Given the description of an element on the screen output the (x, y) to click on. 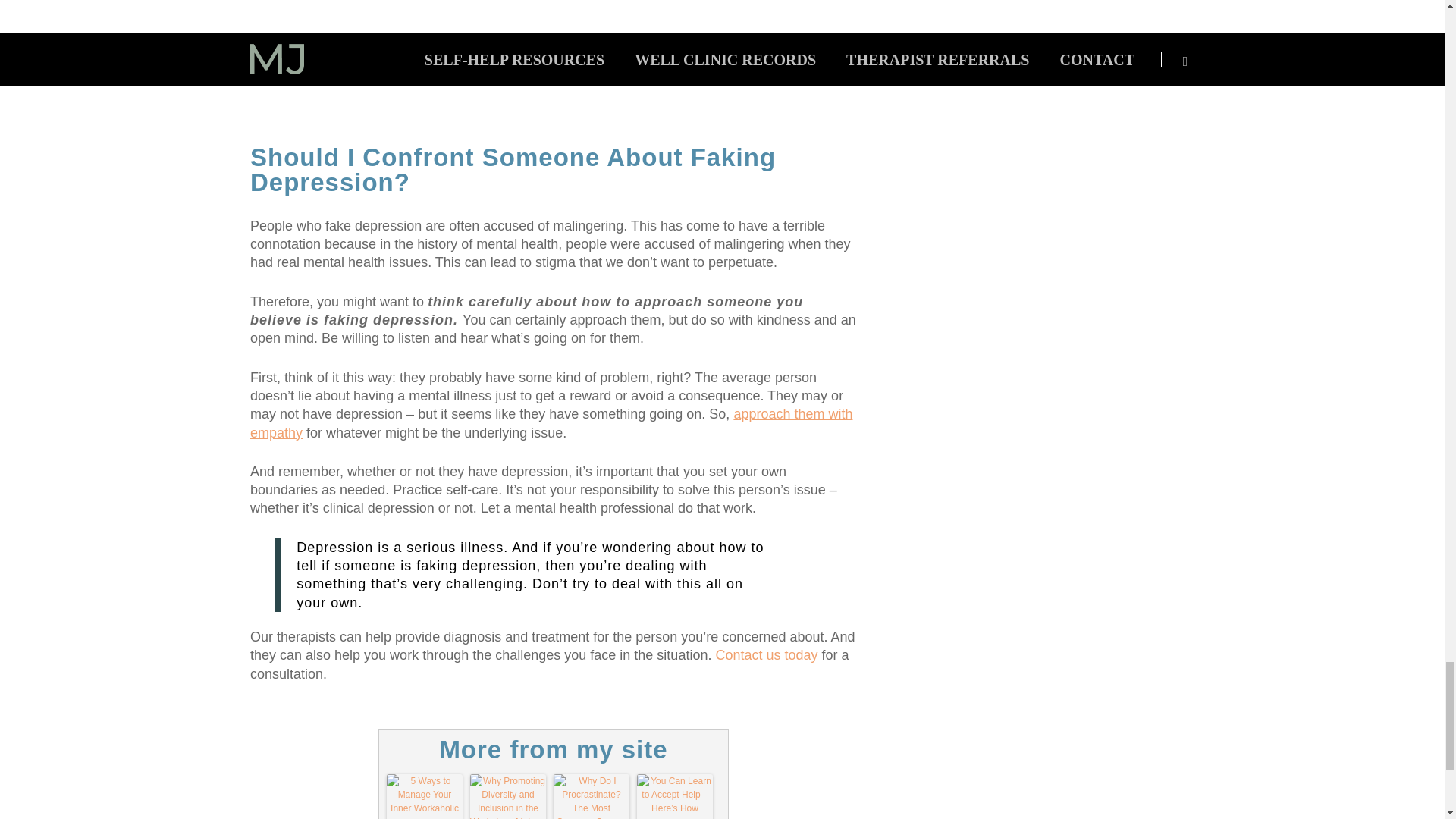
Contact us today (765, 654)
approach them with empathy (550, 422)
